Given the description of an element on the screen output the (x, y) to click on. 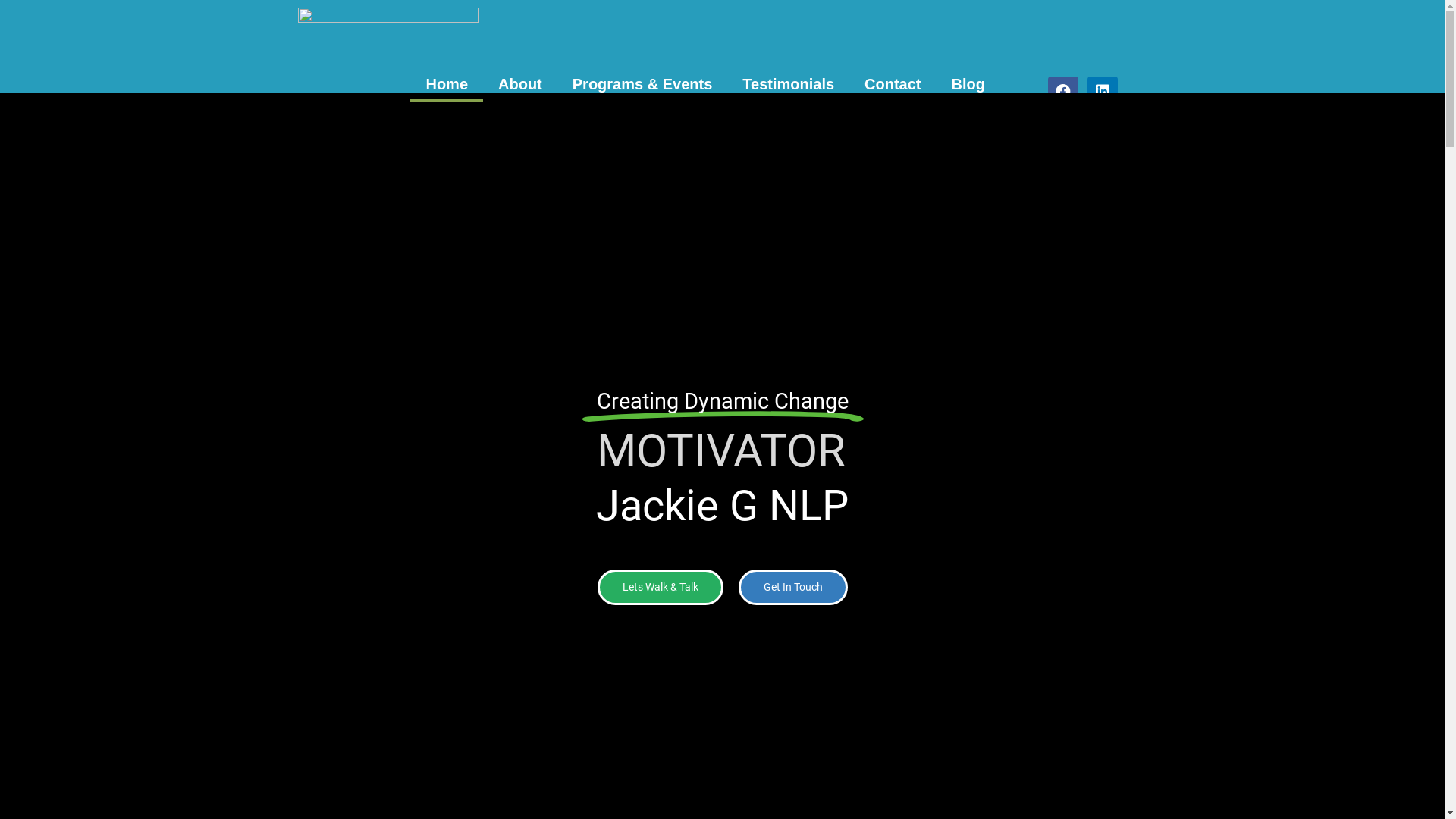
Programs & Events Element type: text (642, 83)
Get In Touch Element type: text (792, 587)
Lets Walk & Talk Element type: text (660, 587)
Blog Element type: text (968, 83)
Home Element type: text (446, 83)
Testimonials Element type: text (788, 83)
Contact Element type: text (892, 83)
About Element type: text (520, 83)
